Given the description of an element on the screen output the (x, y) to click on. 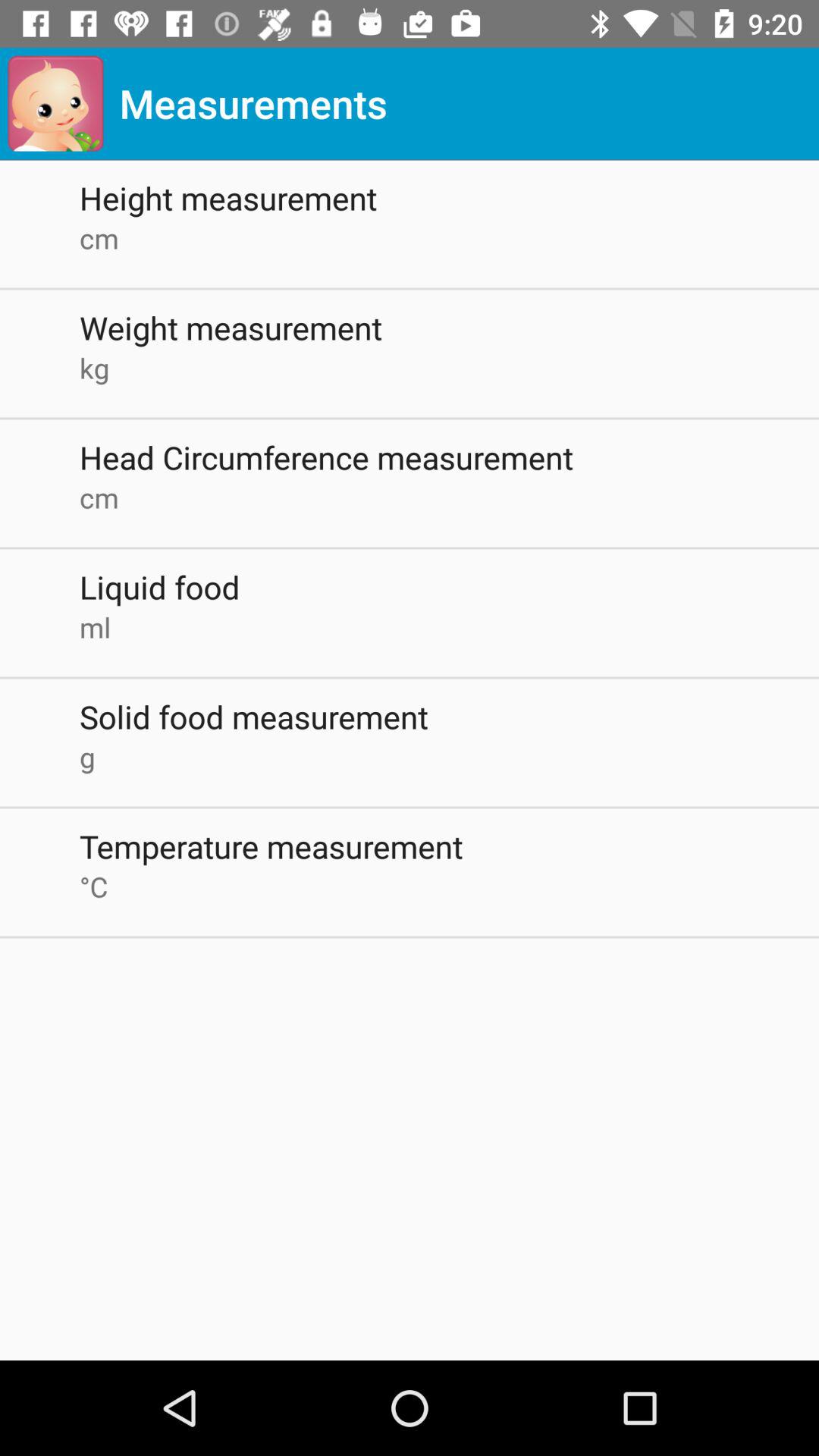
press the item above cm icon (449, 456)
